Given the description of an element on the screen output the (x, y) to click on. 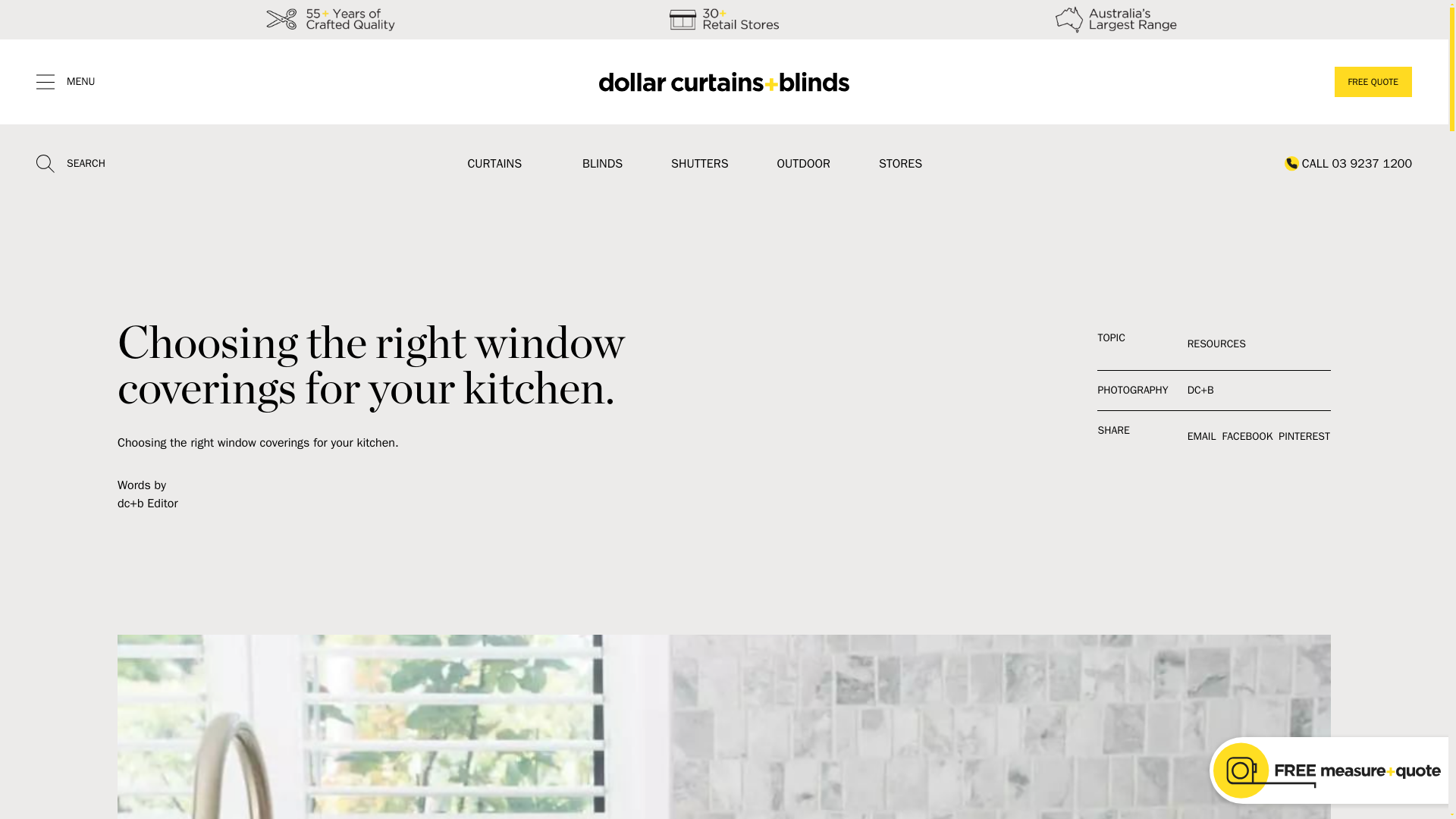
MENU (66, 81)
SHUTTERS (699, 163)
CURTAINS (494, 163)
DCB-55-Years-FA (330, 19)
OUTDOOR (803, 163)
SEARCH (70, 163)
Resources (1217, 343)
STORES (900, 163)
BLINDS (602, 163)
FREE QUOTE (1373, 81)
DCB-FMQ-Icon-FA-2 (1326, 770)
